Given the description of an element on the screen output the (x, y) to click on. 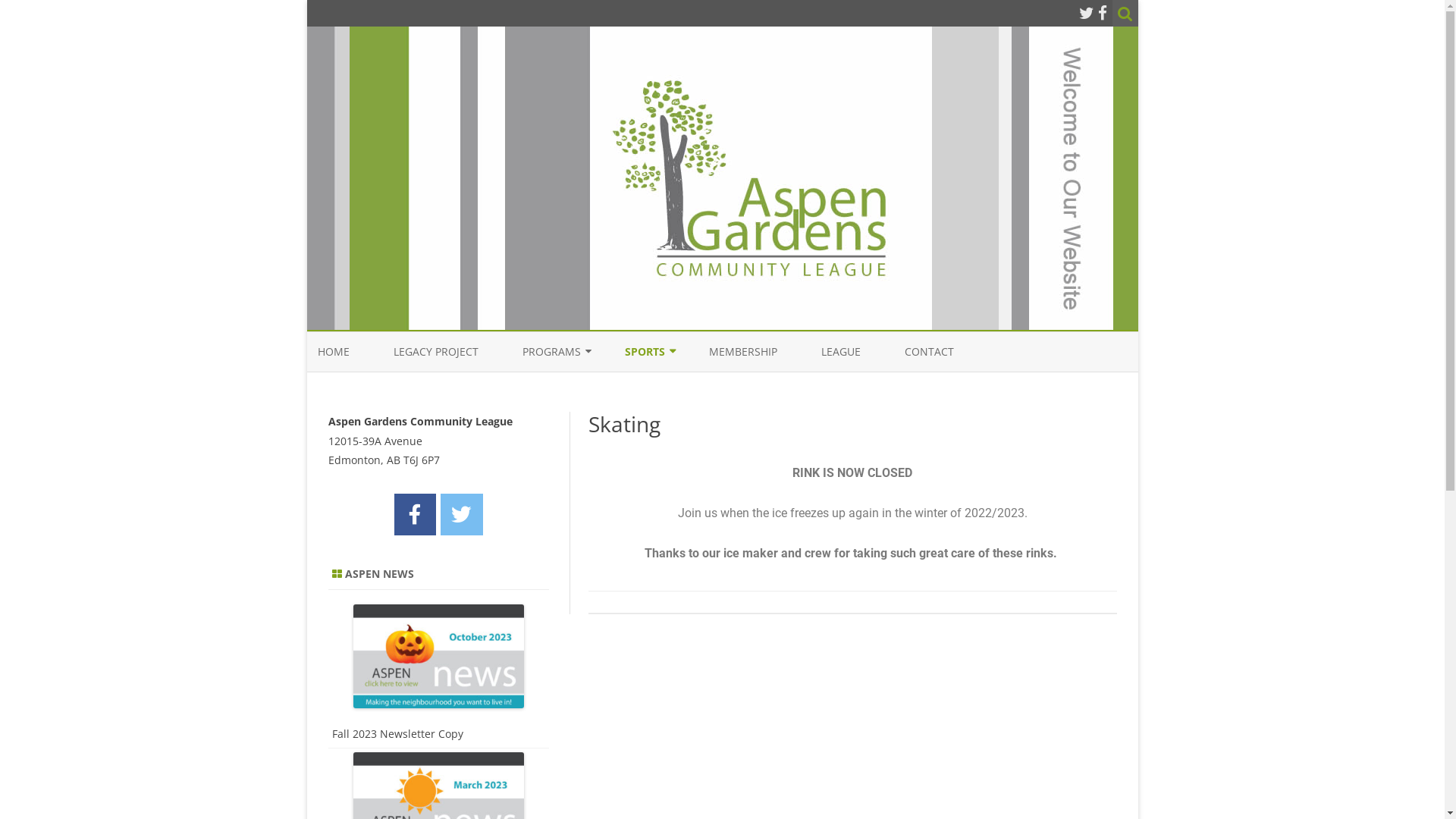
Fall 2023 Newsletter Copy Element type: text (397, 733)
PROGRAMS Element type: text (550, 351)
LEAGUE Element type: text (839, 351)
LEGACY PROJECT Element type: text (434, 351)
Aspen Gardens Community League on Facebook Element type: hover (415, 514)
Facebook Element type: hover (1102, 12)
MEMBERSHIP Element type: text (742, 351)
DROP-IN SHINNY HOCKEY Element type: text (700, 386)
CITY PROGRAMS Element type: text (597, 386)
SPORTS Element type: text (644, 351)
Aspen Gardens Community League on Twitter Element type: hover (461, 514)
HOME Element type: text (332, 351)
Twitter Element type: hover (1085, 12)
Skip to content Element type: text (721, 331)
CONTACT Element type: text (928, 351)
